Given the description of an element on the screen output the (x, y) to click on. 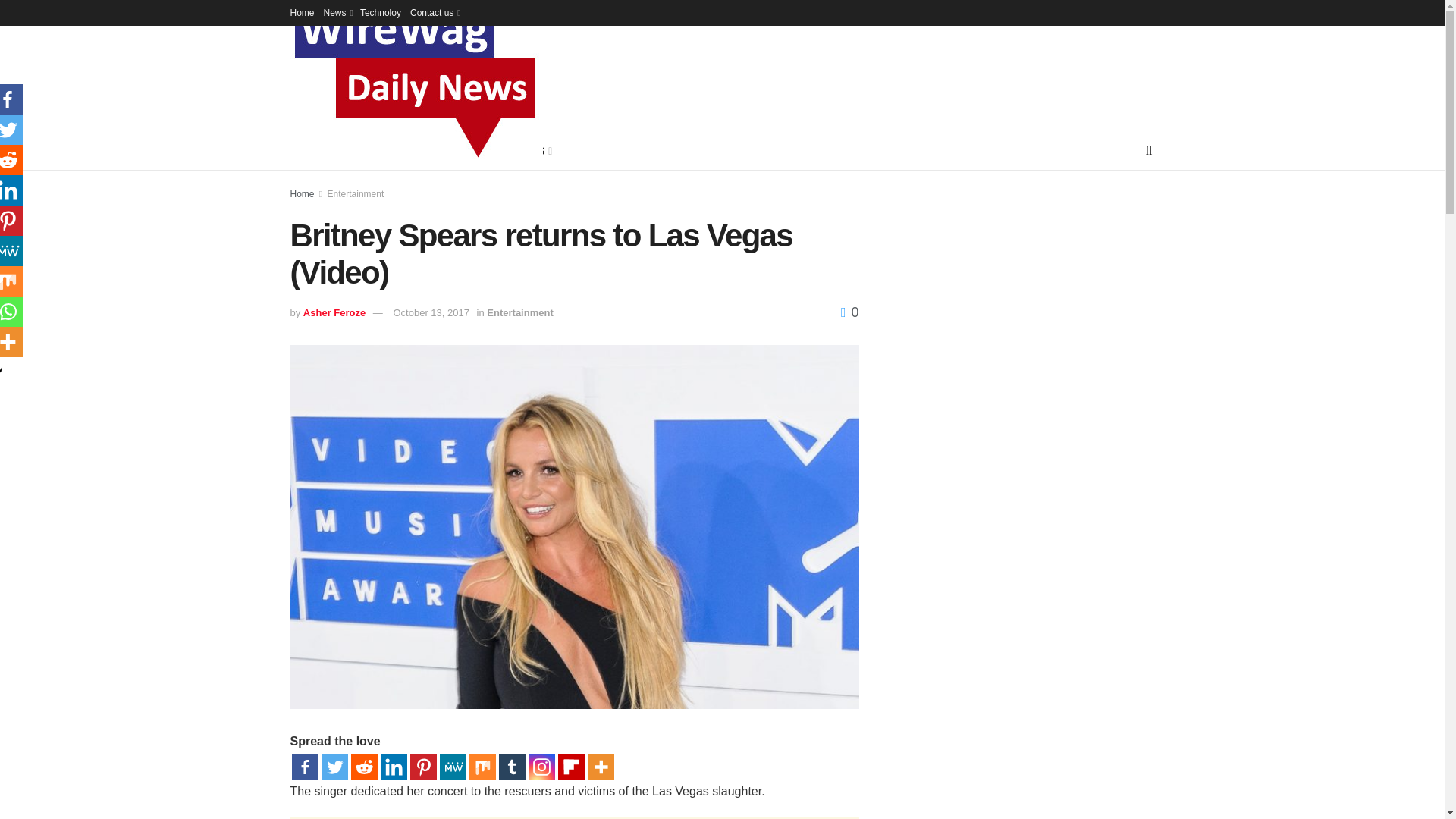
Tumblr (512, 766)
Reddit (363, 766)
Flipboard (571, 766)
Twitter (334, 766)
More (599, 766)
Linkedin (393, 766)
HOME (305, 150)
News (336, 12)
Pinterest (422, 766)
MeWe (452, 766)
NEWS (356, 150)
Facebook (304, 766)
CONTACT US (513, 150)
TECHNOLOY (426, 150)
